Given the description of an element on the screen output the (x, y) to click on. 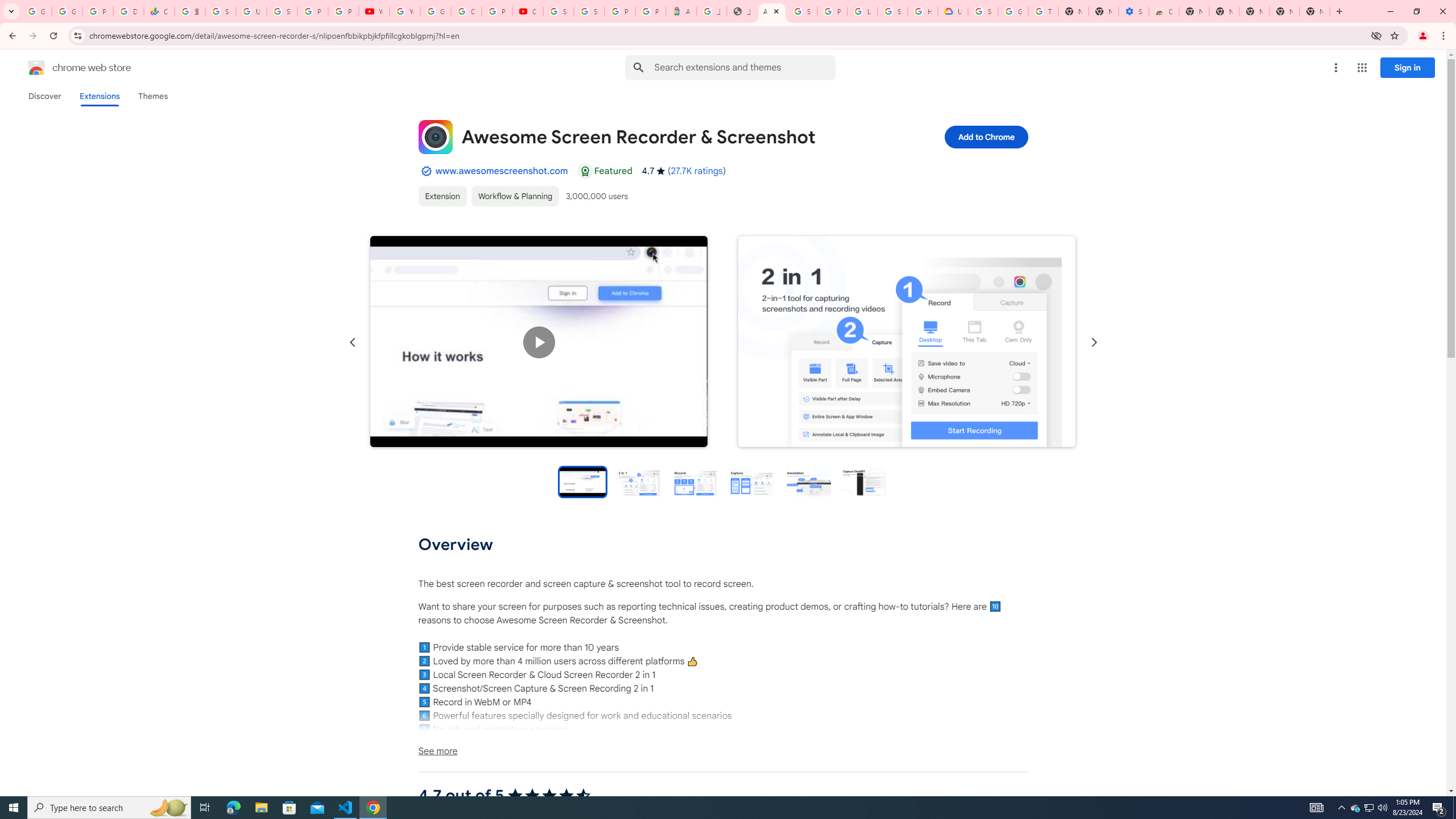
Preview slide 1 (582, 481)
27.7K ratings (696, 170)
Previous slide (352, 342)
Turn cookies on or off - Computer - Google Account Help (1042, 11)
Chrome Web Store logo (36, 67)
Next slide (1093, 342)
Preview slide 6 (863, 481)
Preview slide 4 (751, 481)
Item media 2 screenshot (906, 341)
Create your Google Account (465, 11)
Item video thumbnail (582, 481)
